Given the description of an element on the screen output the (x, y) to click on. 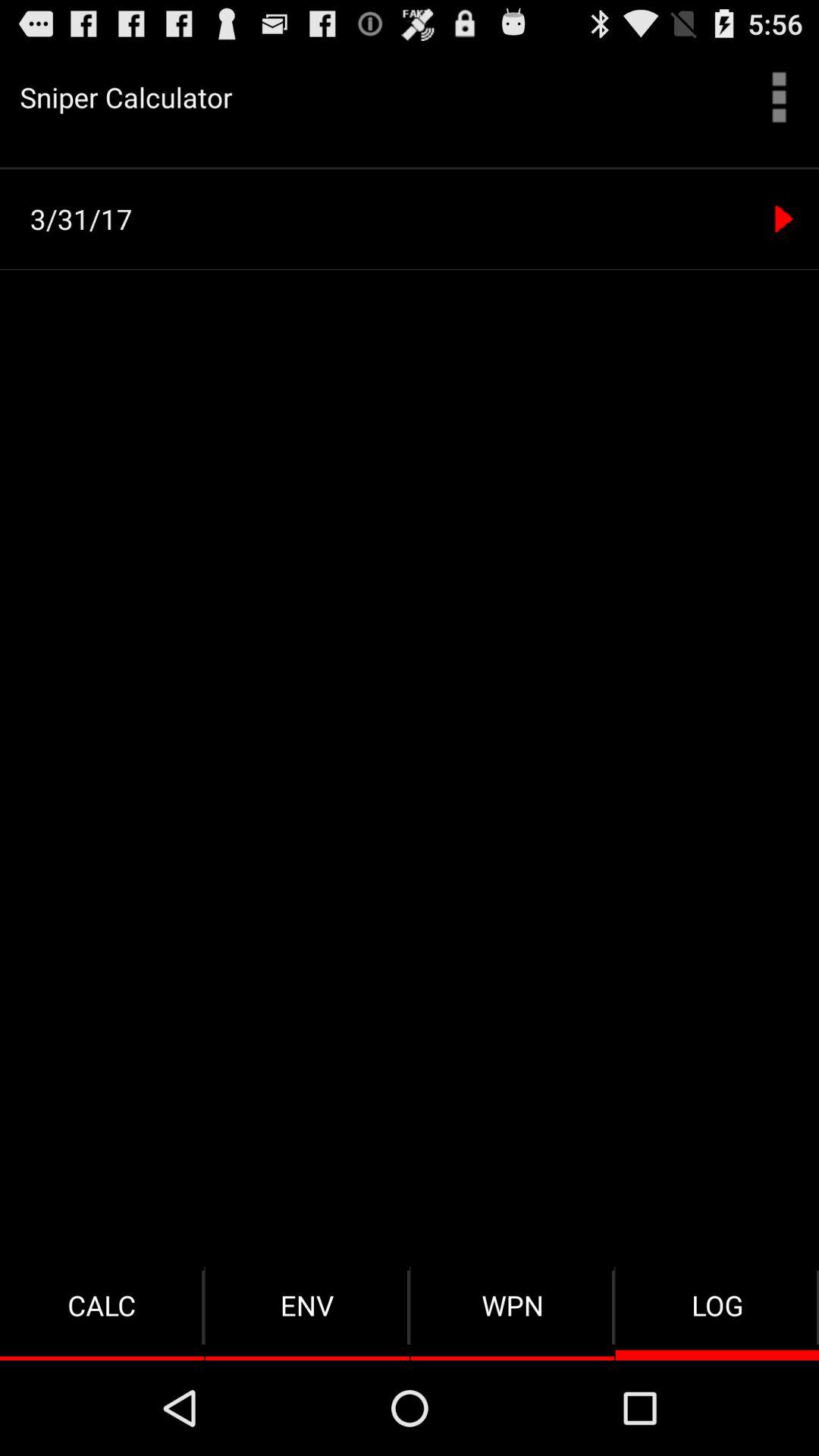
choose the item next to sniper calculator item (779, 97)
